Given the description of an element on the screen output the (x, y) to click on. 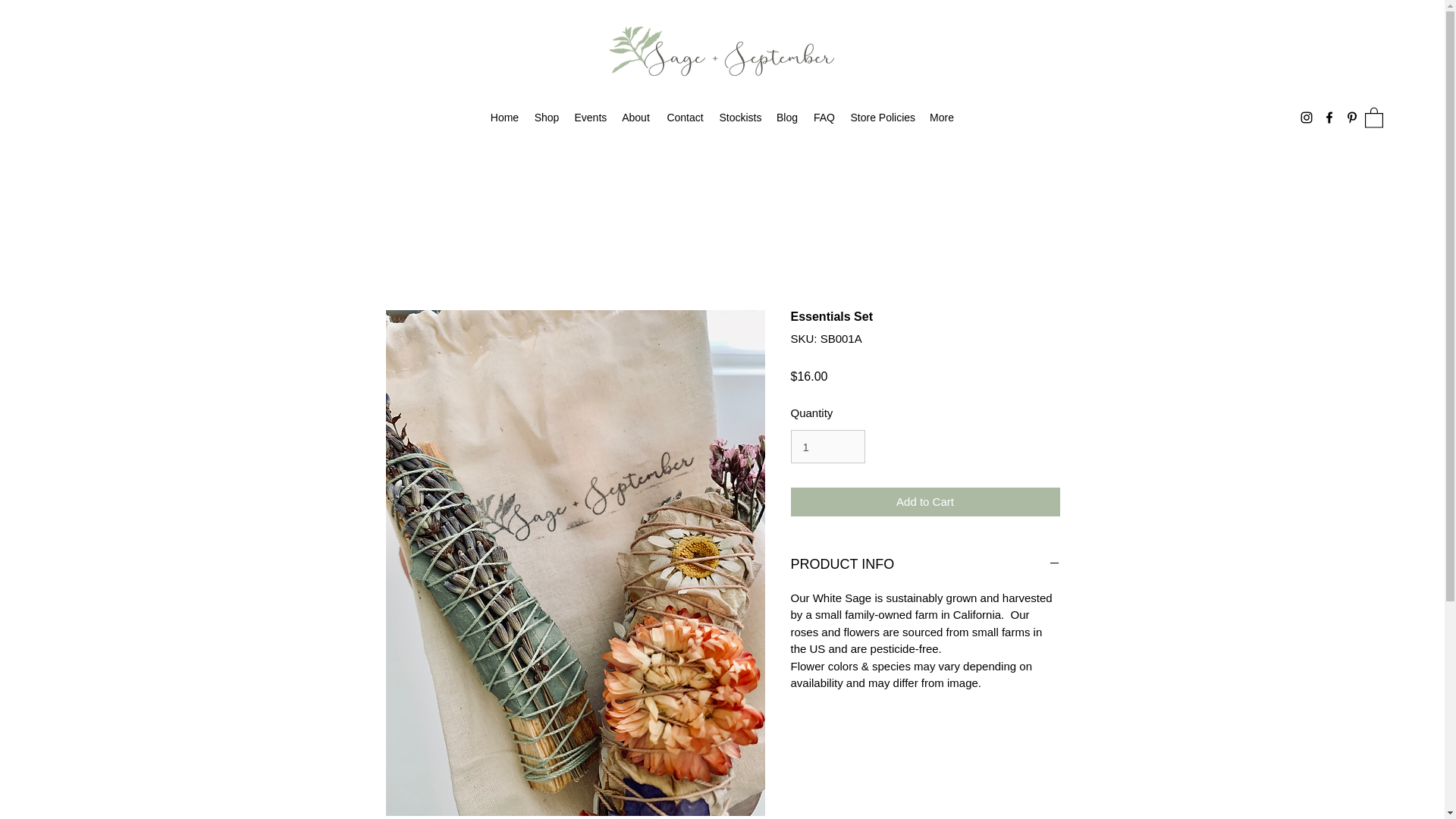
1 (827, 446)
PRODUCT INFO (924, 564)
Stockists (739, 117)
Add to Cart (924, 501)
FAQ (824, 117)
Store Policies (882, 117)
Contact (684, 117)
Blog (787, 117)
Home (503, 117)
About (635, 117)
Shop (545, 117)
Events (589, 117)
